Given the description of an element on the screen output the (x, y) to click on. 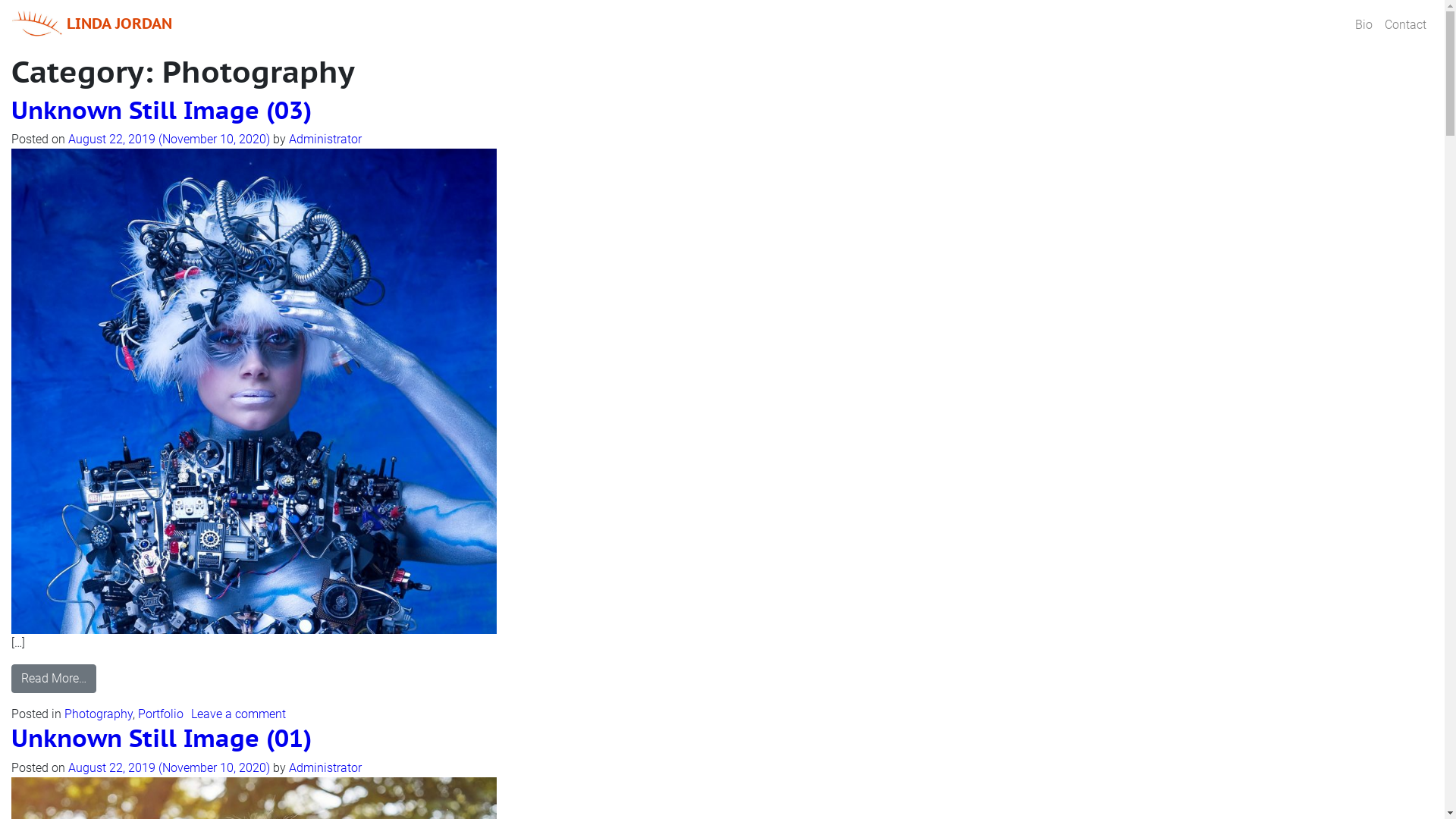
Administrator Element type: text (324, 767)
August 22, 2019 (November 10, 2020) Element type: text (170, 138)
Contact Element type: text (1405, 24)
Administrator Element type: text (324, 138)
Bio Element type: text (1363, 24)
Leave a comment Element type: text (238, 713)
Portfolio Element type: text (160, 713)
Photography Element type: text (98, 713)
August 22, 2019 (November 10, 2020) Element type: text (170, 767)
LINDA JORDAN Element type: text (92, 24)
Unknown Still Image (01) Element type: text (161, 737)
Unknown Still Image (03) Element type: text (161, 109)
